Given the description of an element on the screen output the (x, y) to click on. 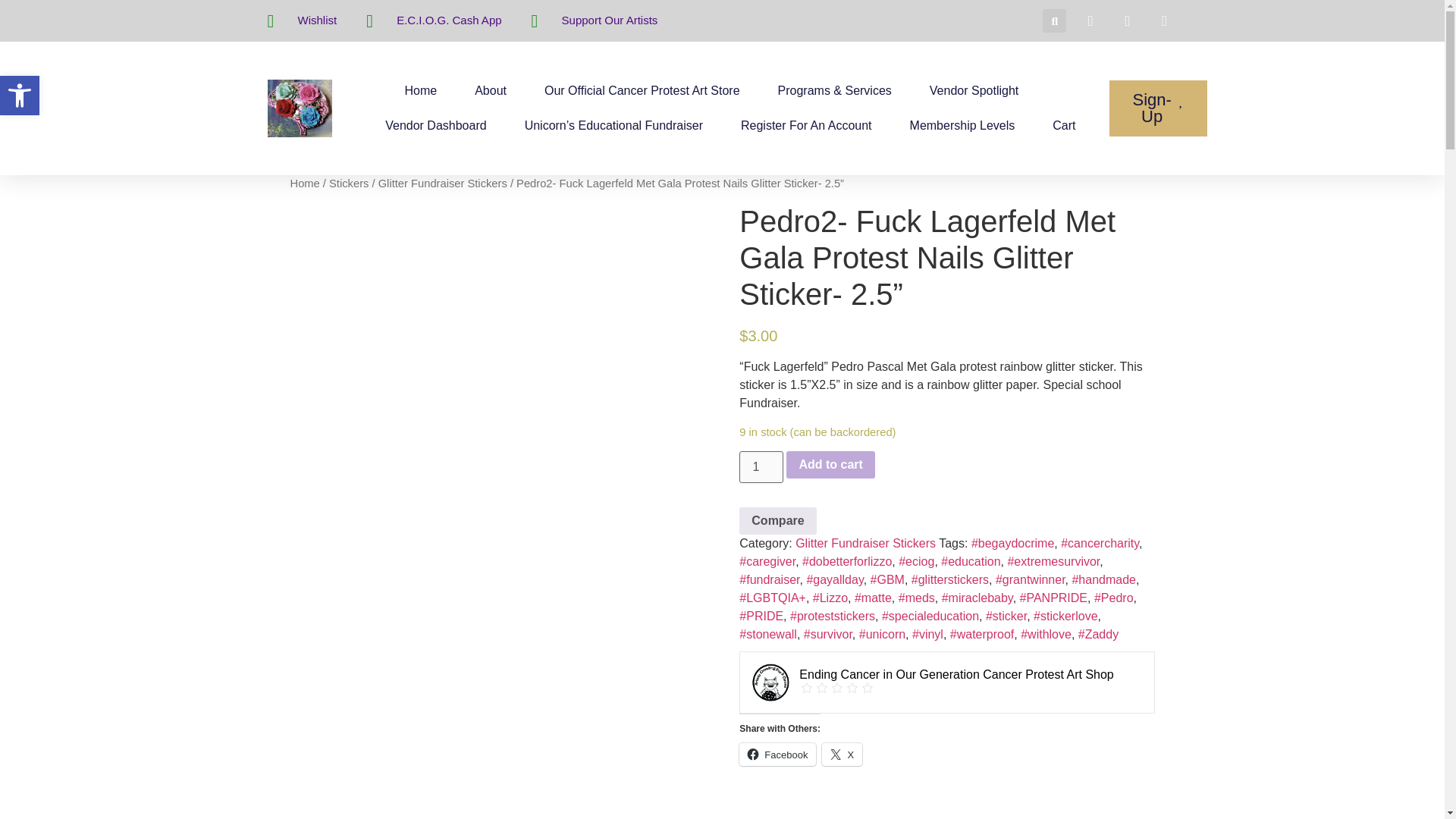
Membership Levels (962, 125)
Home (420, 90)
Vendor Spotlight (973, 90)
Vendor Dashboard (435, 125)
1 (761, 467)
Register For An Account (806, 125)
Accessibility Tools (19, 95)
Wishlist (301, 21)
Support Our Artists (594, 21)
Click to share on X (841, 753)
Our Official Cancer Protest Art Store (641, 90)
E.C.I.O.G. Cash App (433, 21)
Click to share on Facebook (777, 753)
Accessibility Tools (19, 95)
About (490, 90)
